Given the description of an element on the screen output the (x, y) to click on. 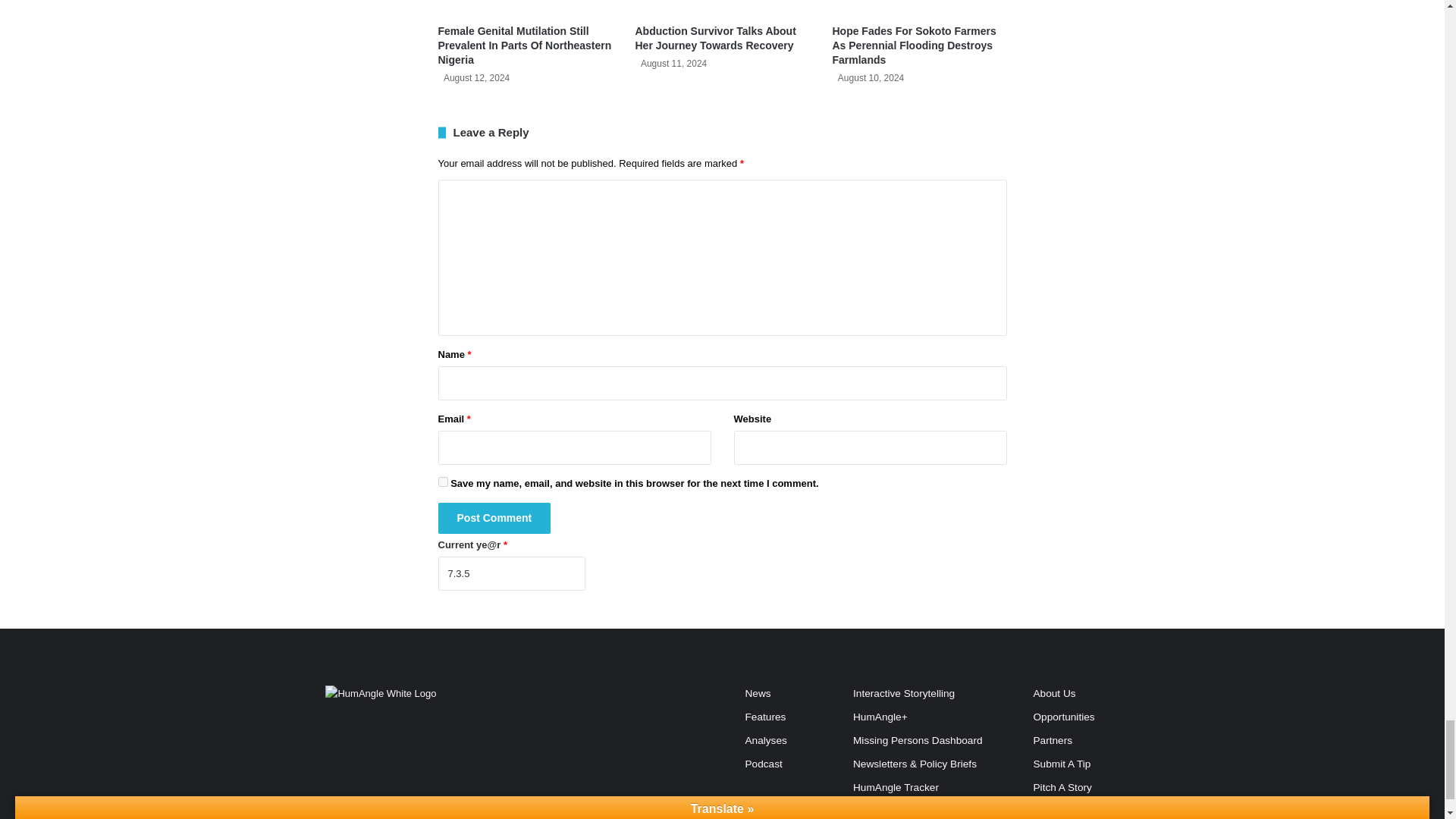
Post Comment (494, 517)
yes (443, 481)
7.3.5 (511, 573)
